Given the description of an element on the screen output the (x, y) to click on. 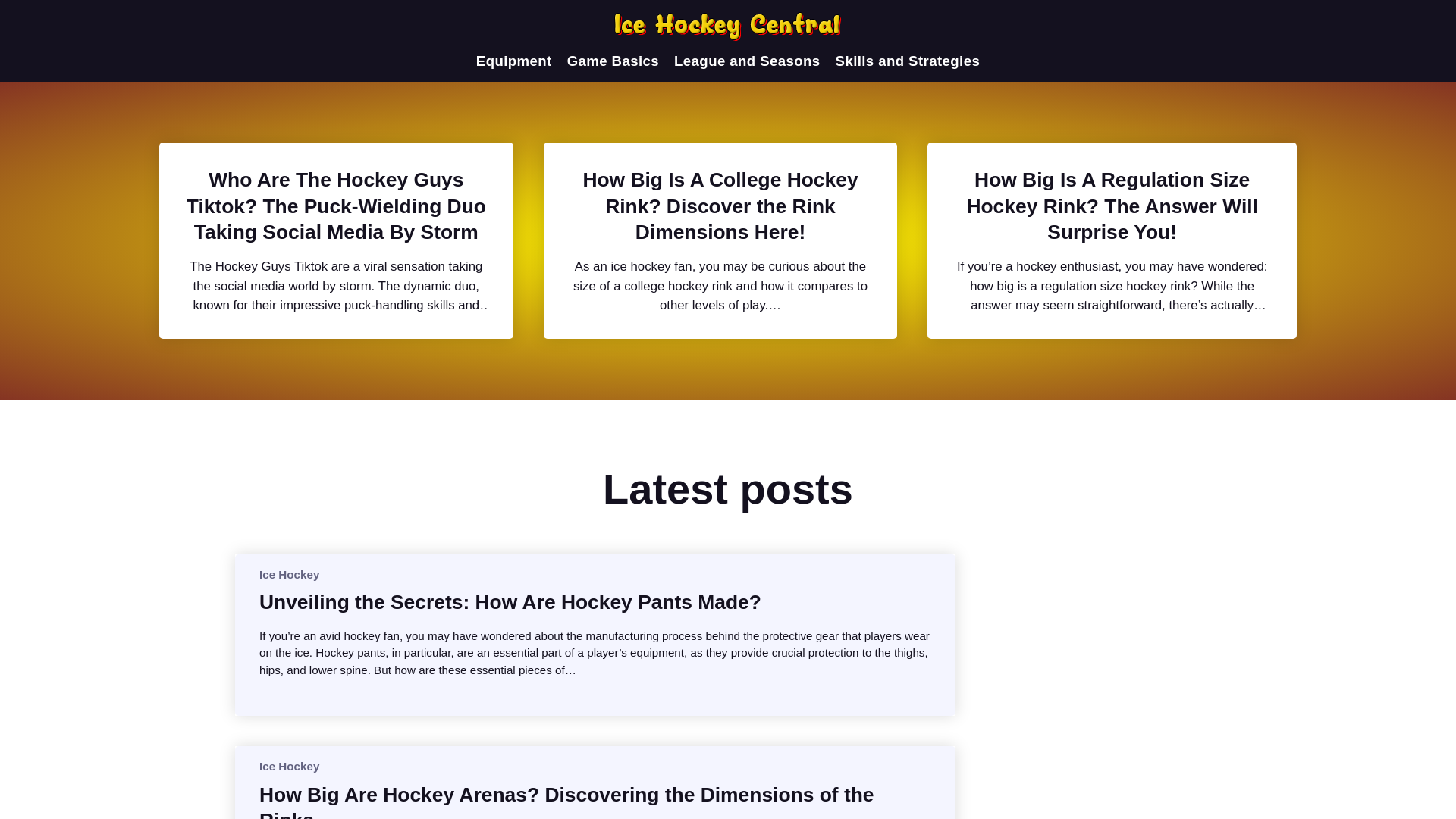
League and Seasons (746, 61)
Ice Hockey (288, 573)
Game Basics (613, 61)
Skills and Strategies (907, 61)
Ice Hockey (288, 766)
Unveiling the Secrets: How Are Hockey Pants Made? (510, 601)
Equipment (513, 61)
